Given the description of an element on the screen output the (x, y) to click on. 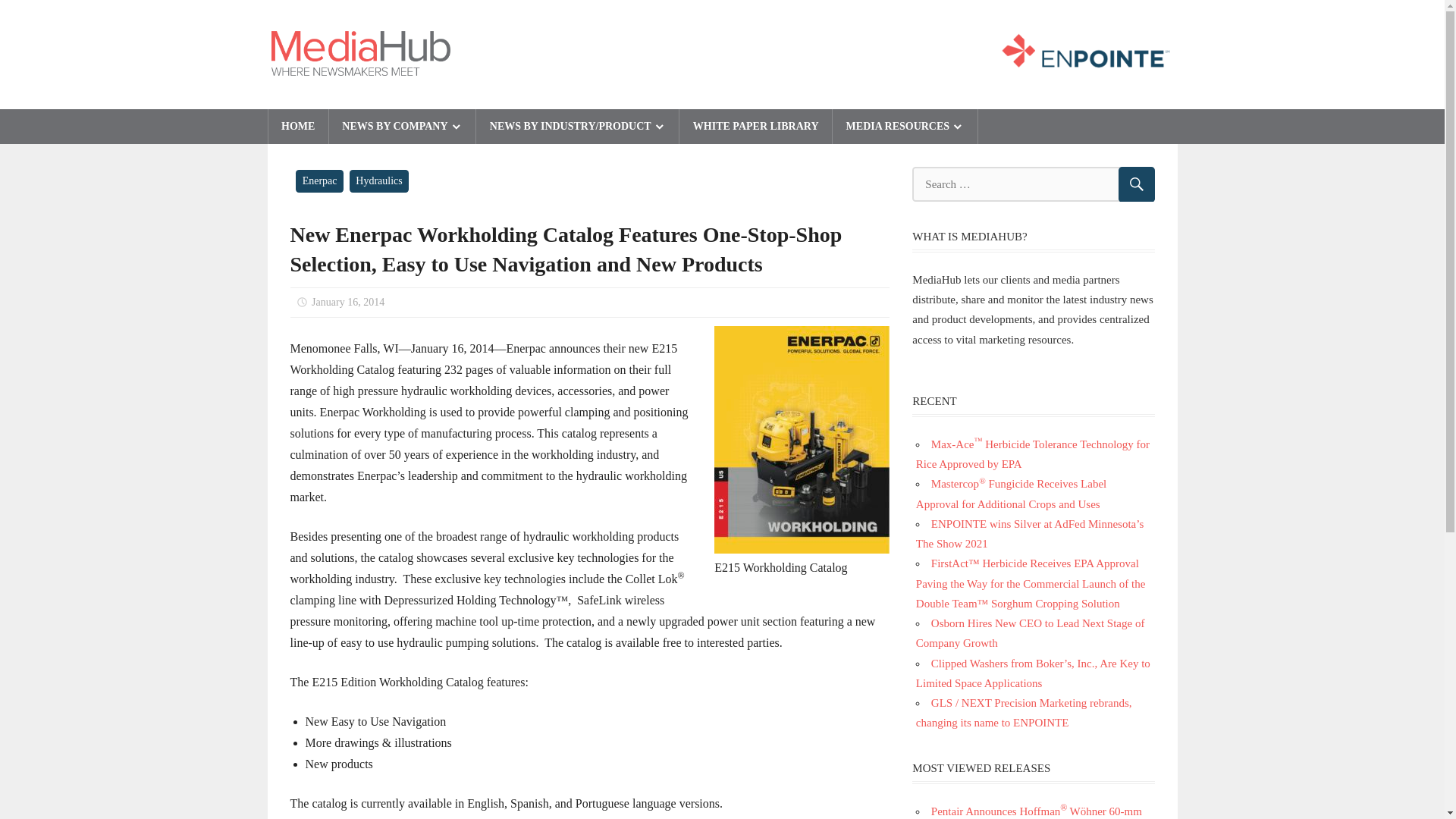
NEWS BY COMPANY (402, 126)
HOME (298, 126)
12:00 am (347, 301)
Search for: (1033, 184)
View all posts by ENPOINTE (444, 301)
